Given the description of an element on the screen output the (x, y) to click on. 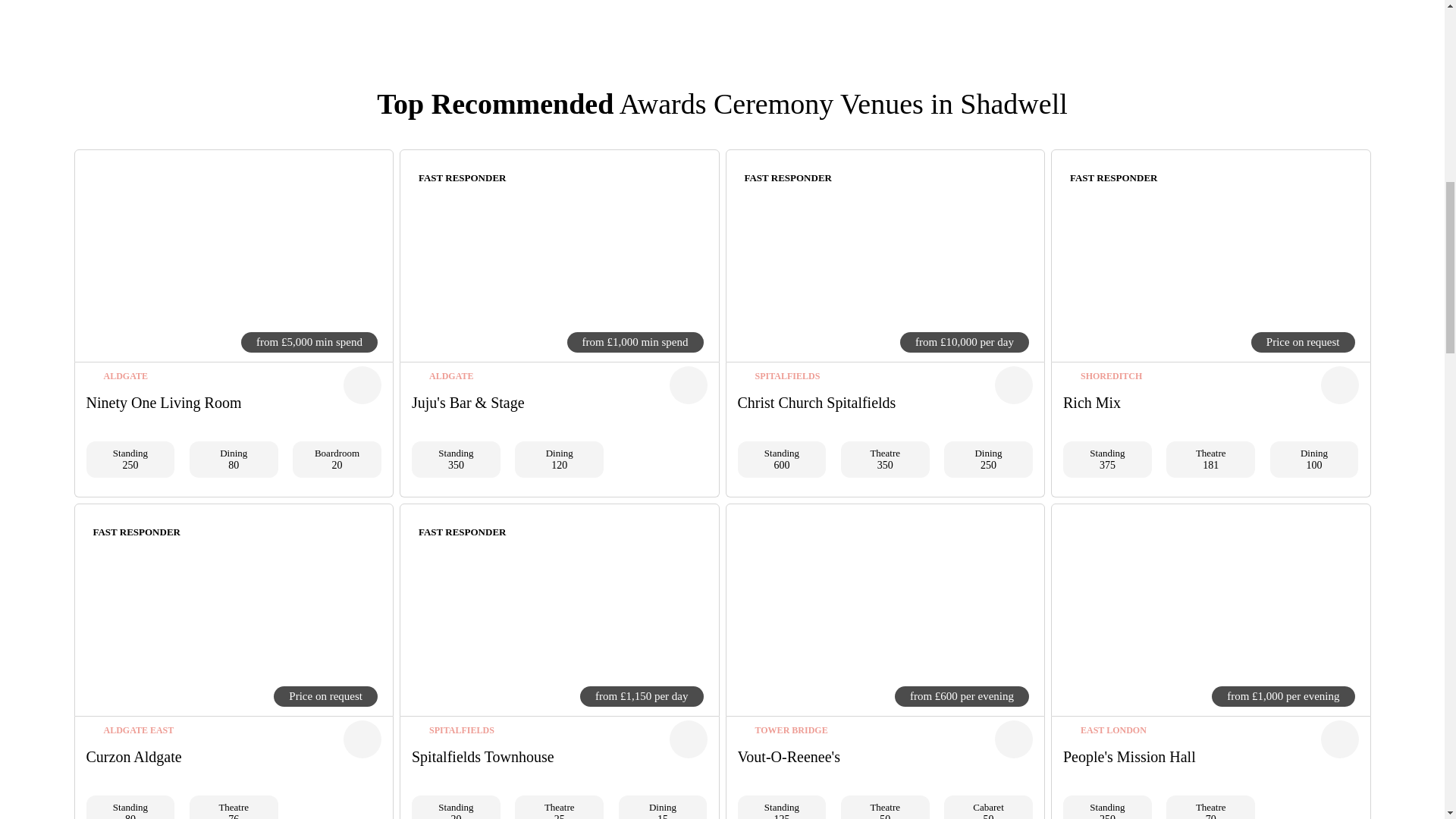
Add to wishlist (1013, 385)
Add to wishlist (1013, 739)
Add to wishlist (362, 739)
Add to wishlist (362, 385)
Add to wishlist (687, 385)
Add to wishlist (1339, 385)
Add to wishlist (1339, 739)
Add to wishlist (687, 739)
